Given the description of an element on the screen output the (x, y) to click on. 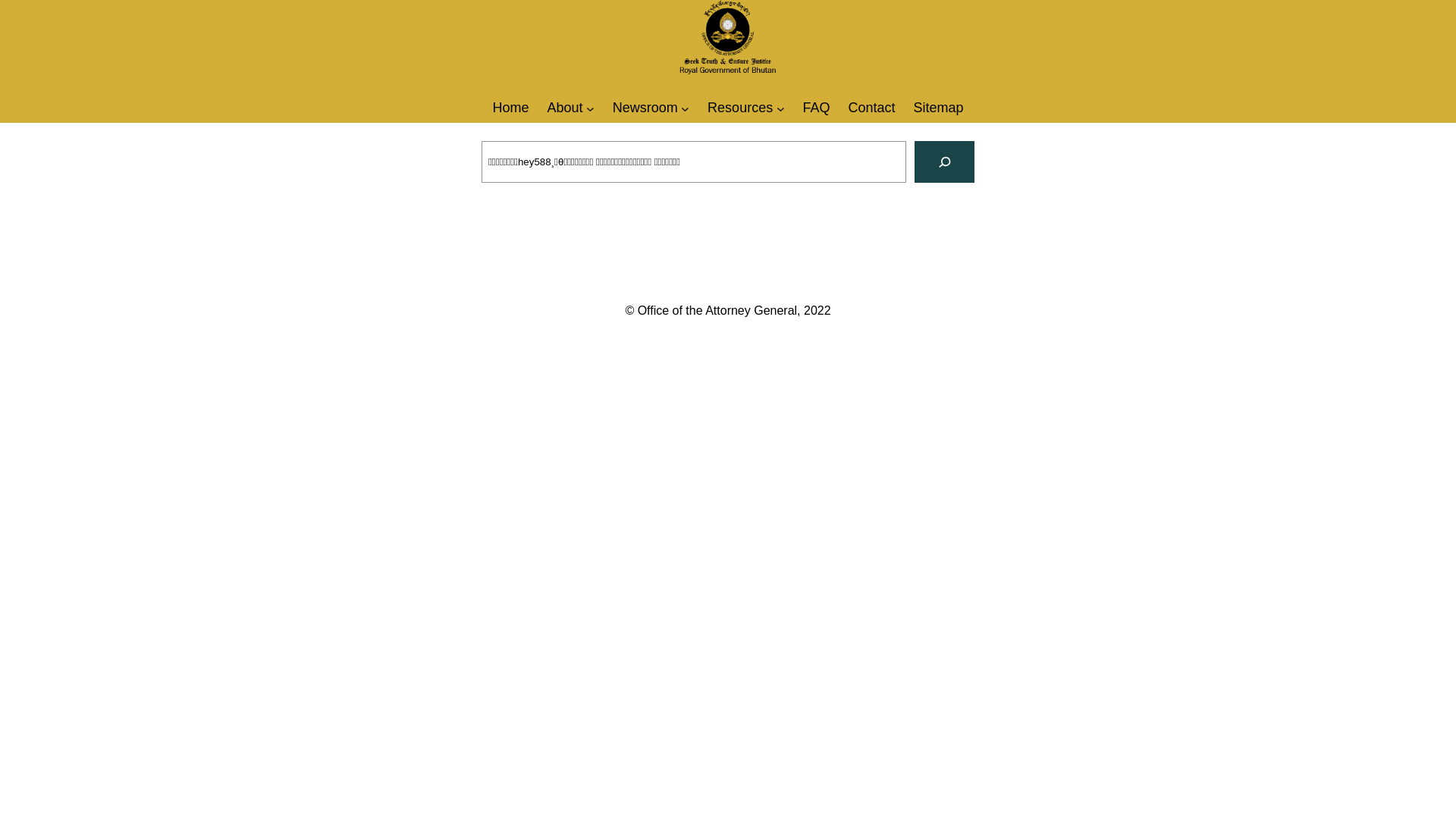
Sitemap Element type: text (938, 108)
About Element type: text (564, 108)
Home Element type: text (510, 108)
Resources Element type: text (739, 108)
Contact Element type: text (870, 108)
FAQ Element type: text (815, 108)
Newsroom Element type: text (644, 108)
